Given the description of an element on the screen output the (x, y) to click on. 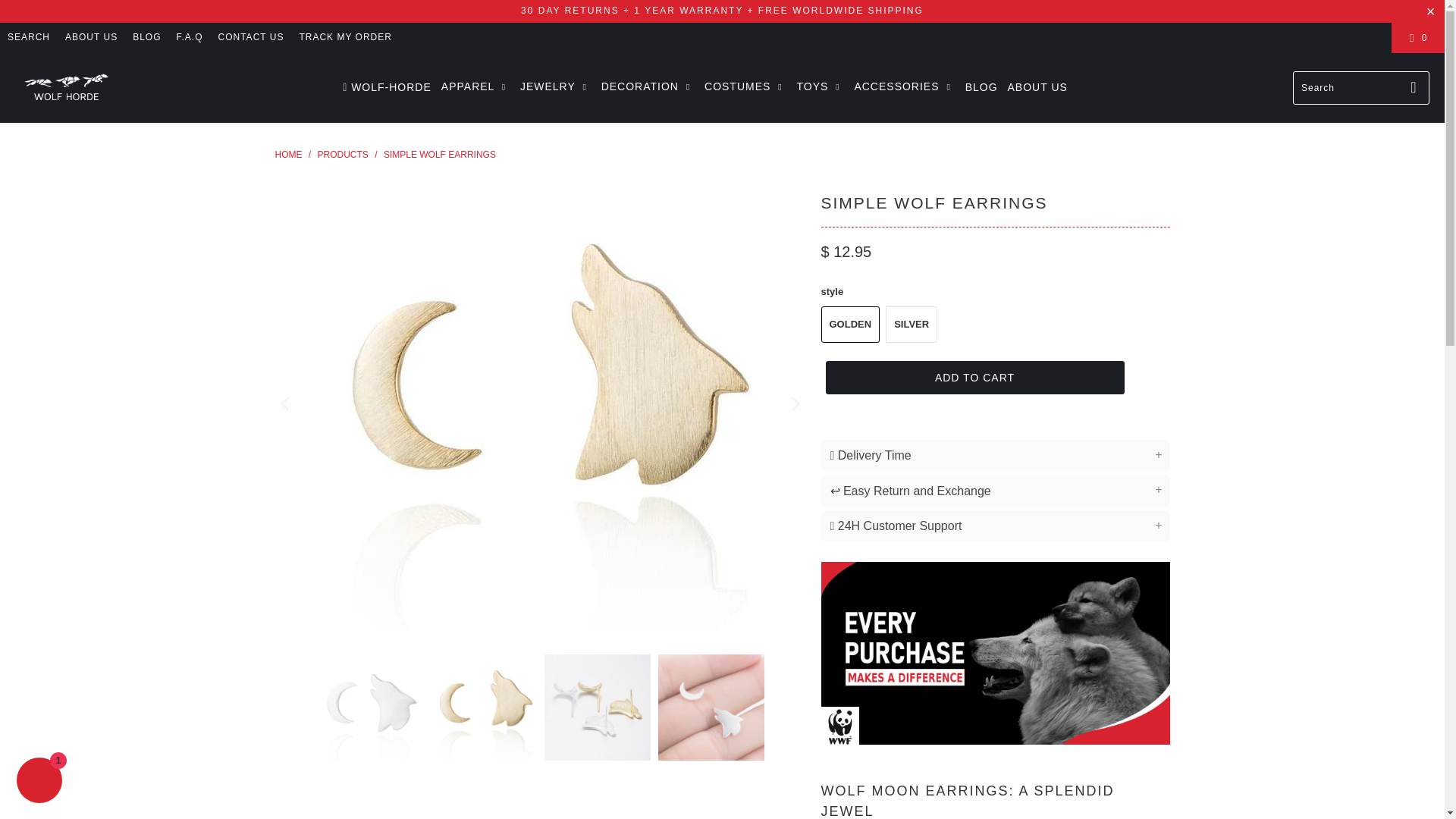
Products (342, 154)
Wolf-Horde (288, 154)
Wolf-Horde (65, 87)
Shopify online store chat (38, 781)
